Given the description of an element on the screen output the (x, y) to click on. 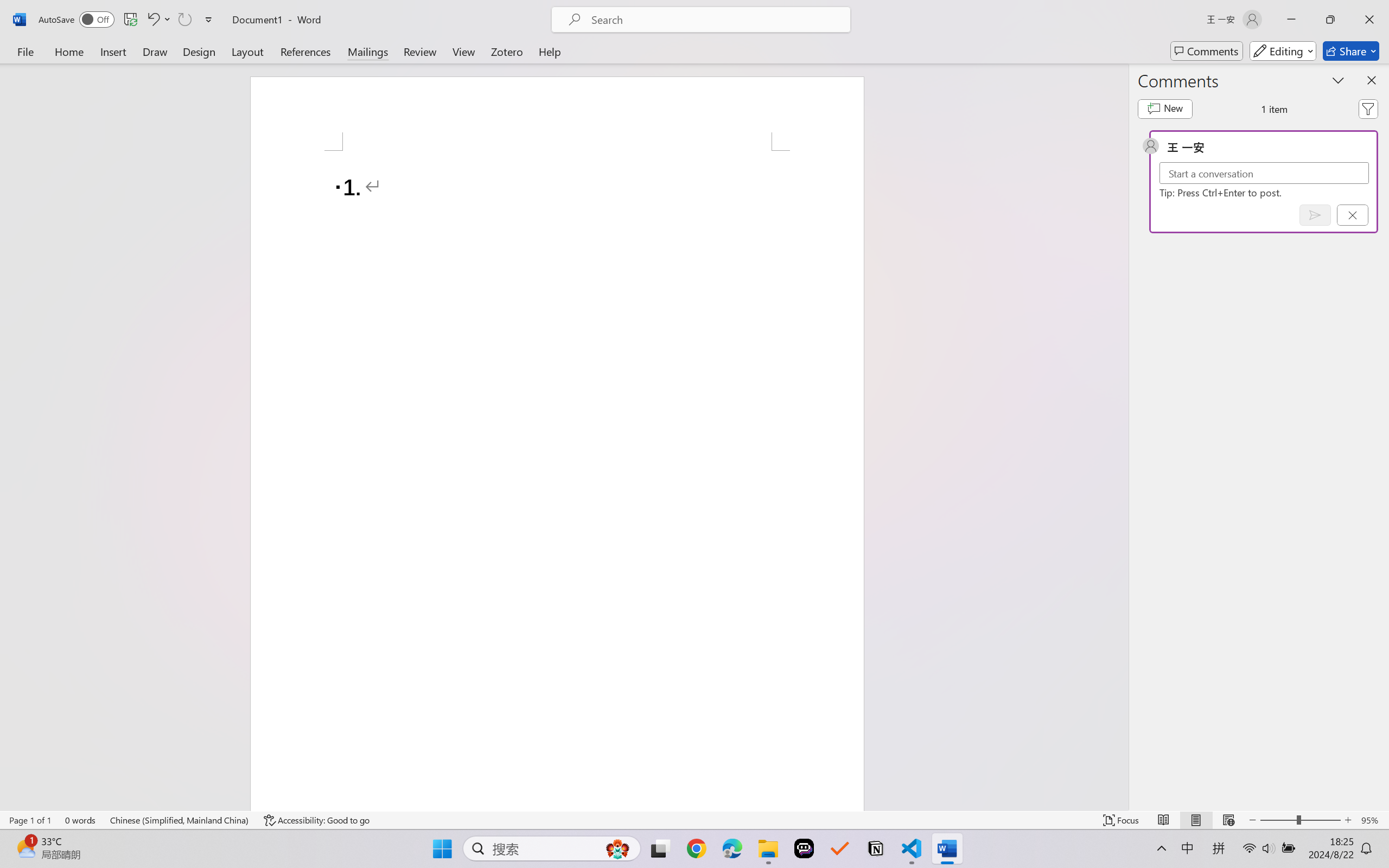
Language Chinese (Simplified, Mainland China) (179, 819)
New comment (1165, 108)
